Given the description of an element on the screen output the (x, y) to click on. 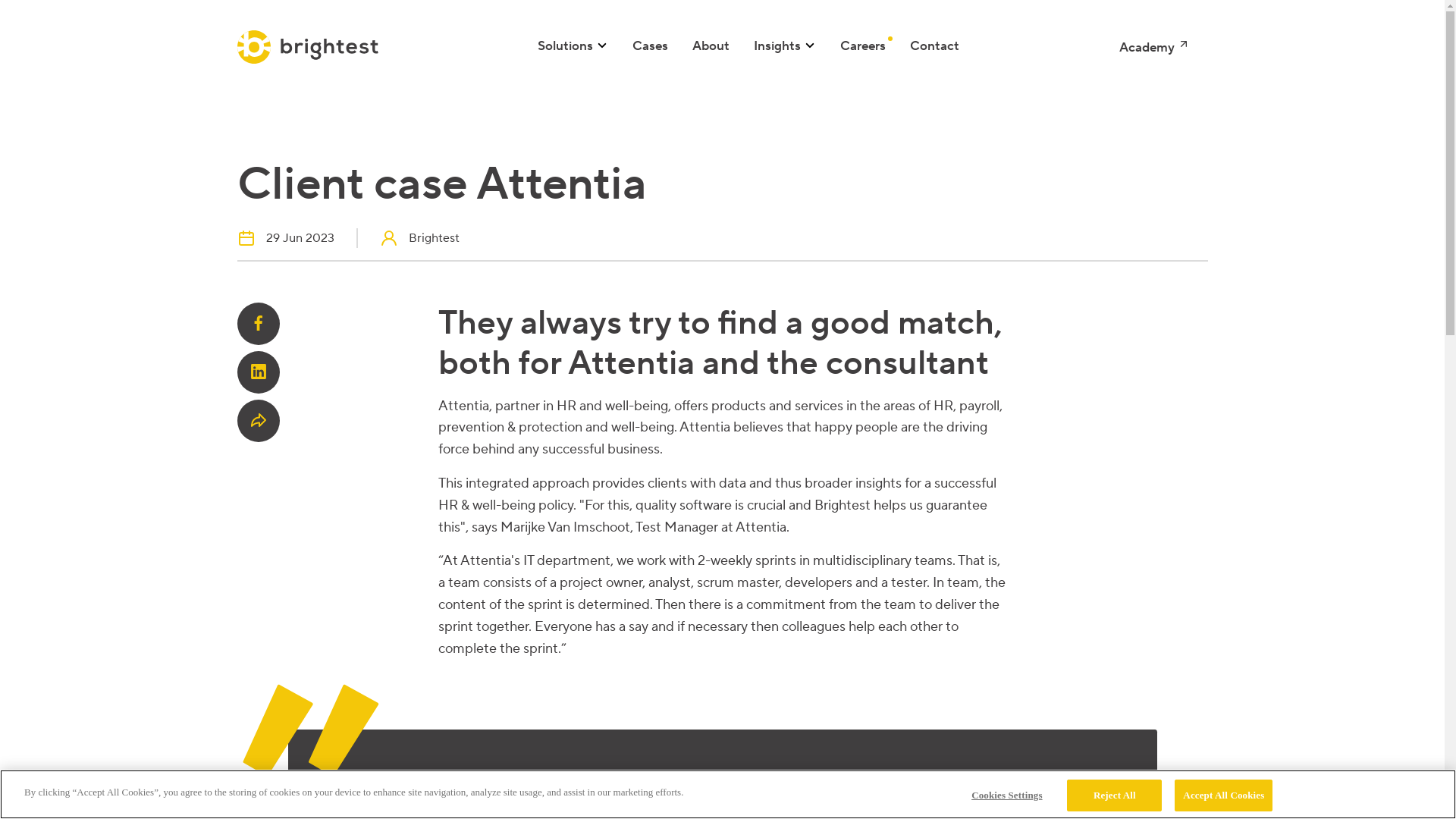
Cases Element type: text (650, 46)
About Element type: text (710, 46)
Insights Element type: text (784, 46)
About Element type: text (710, 46)
Cookies Settings Element type: text (1006, 795)
Academy Element type: text (1154, 47)
Accept All Cookies Element type: text (1223, 795)
Careers Element type: text (862, 46)
Careers Element type: text (862, 46)
Cases Element type: text (650, 46)
Solutions Element type: text (572, 46)
Reject All Element type: text (1113, 795)
Contact Element type: text (934, 46)
Contact Element type: text (934, 46)
